Given the description of an element on the screen output the (x, y) to click on. 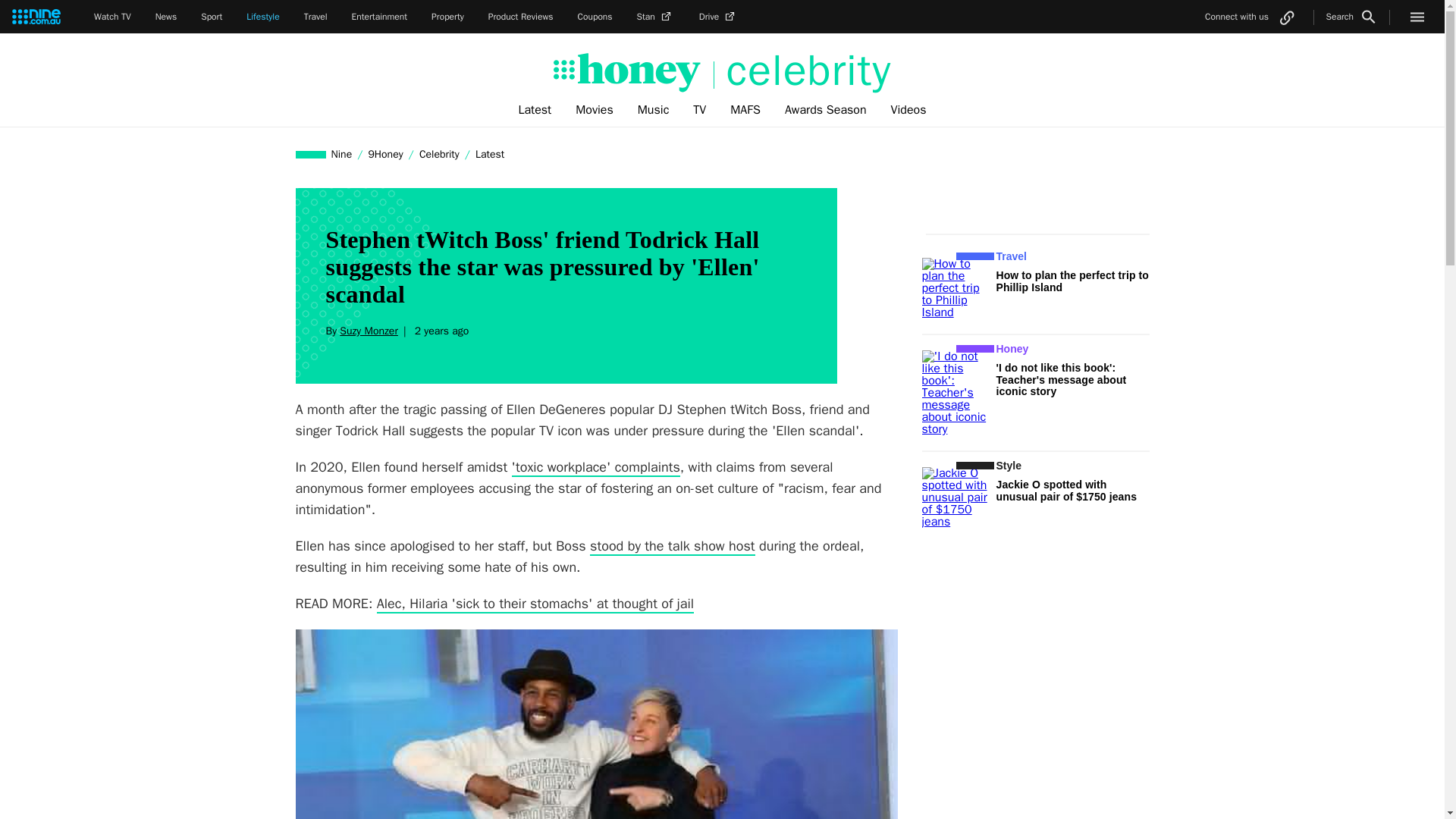
Music (653, 109)
Watch TV (112, 16)
Awards Season (826, 109)
Alec, Hilaria 'sick to their stomachs' at thought of jail (535, 604)
Movies (594, 109)
Stan (656, 16)
Coupons (595, 16)
Videos (909, 109)
Drive (718, 16)
9Honey (384, 154)
